Given the description of an element on the screen output the (x, y) to click on. 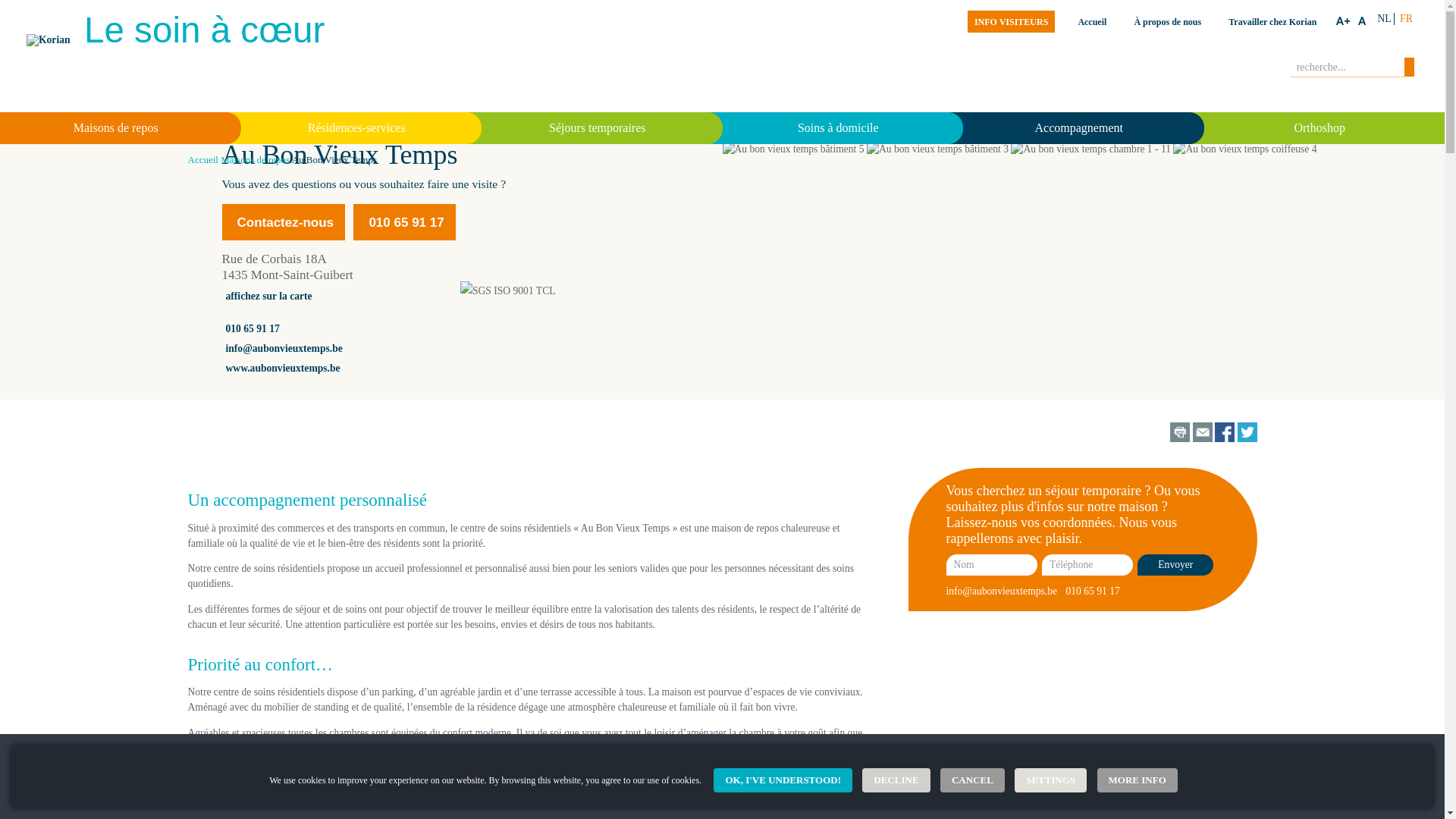
Maisons de repos Element type: text (254, 159)
www.aubonvieuxtemps.be Element type: text (282, 367)
Au bon vieux temps chambre 1 - 11 Element type: hover (1090, 338)
CANCEL Element type: text (972, 780)
Au bon vieux temps coiffeuse 4 Element type: hover (1244, 338)
DECLINE Element type: text (895, 780)
010 65 91 17 Element type: text (405, 222)
info@aubonvieuxtemps.be Element type: text (283, 348)
Standard Element type: hover (1362, 24)
Partager sur Twitter Element type: hover (1247, 438)
OK, I'VE UNDERSTOOD! Element type: text (782, 780)
010 65 91 17 Element type: text (252, 328)
Partager sur Facebook Element type: hover (1224, 438)
FR Element type: text (1405, 18)
affichez sur la carte Element type: text (268, 295)
info@aubonvieuxtemps.be Element type: text (1001, 590)
INFO VISITEURS Element type: text (1010, 21)
010 65 91 17 Element type: text (404, 221)
Korian Element type: hover (48, 40)
SETTINGS Element type: text (1050, 780)
Accompagnement Element type: text (1076, 128)
010 65 91 17 Element type: text (1092, 590)
Envoyer Element type: text (1175, 564)
Agrandir Element type: hover (1342, 24)
Accueil Element type: text (1091, 21)
Envoyer un e-mail Element type: hover (1202, 438)
Imprimer cette page Element type: hover (1179, 438)
Contactez-nous Element type: text (283, 221)
MORE INFO Element type: text (1137, 780)
Travailler chez Korian Element type: text (1272, 21)
Orthoshop Element type: text (1317, 128)
NL Element type: text (1384, 18)
Accueil Element type: text (203, 159)
